Given the description of an element on the screen output the (x, y) to click on. 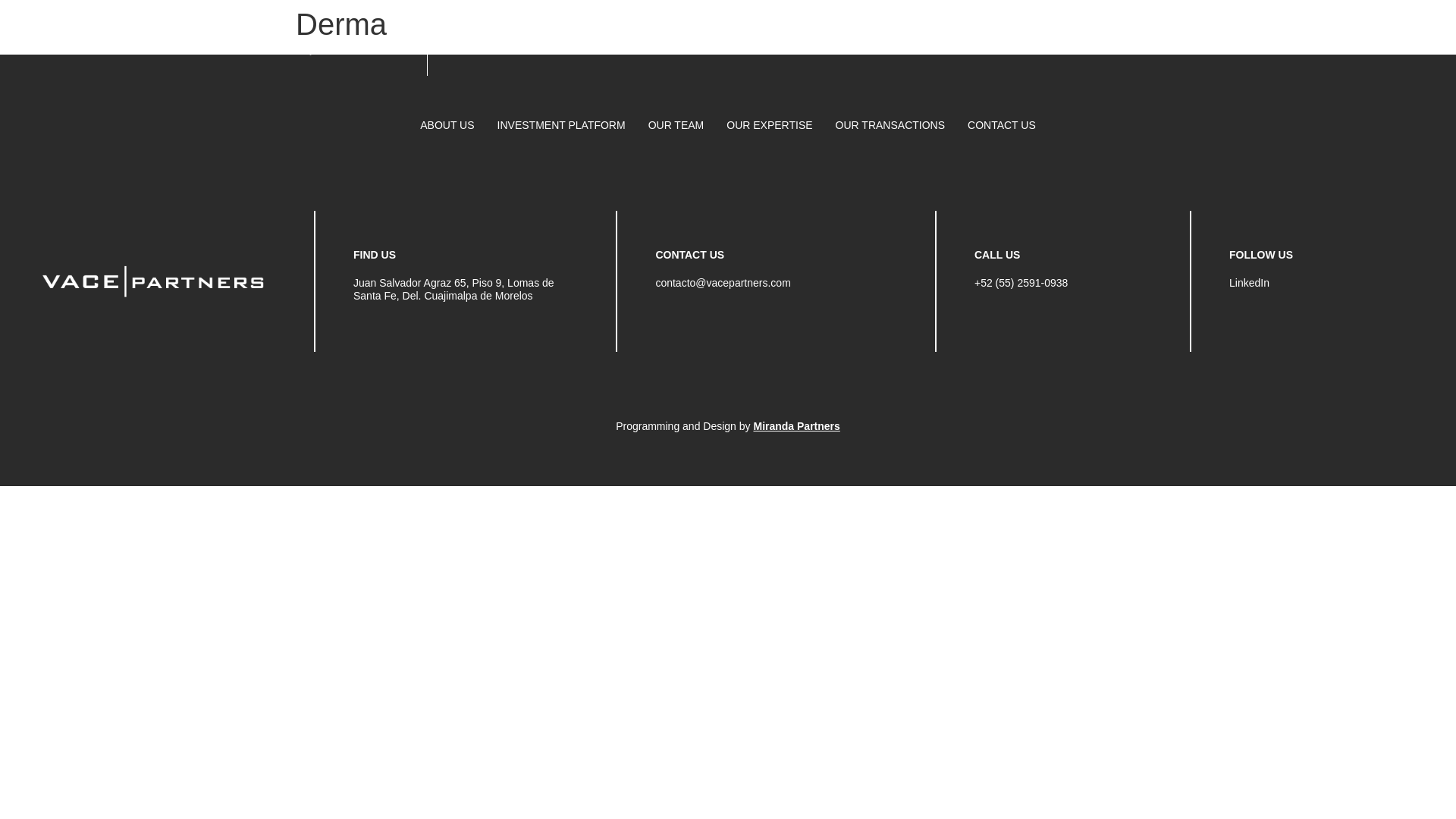
OUR EXPERTISE (769, 124)
OUR TEAM (676, 124)
ABOUT US (446, 124)
CONTACT US (1001, 124)
OUR TRANSACTIONS (890, 124)
INVESTMENT PLATFORM (561, 124)
